Given the description of an element on the screen output the (x, y) to click on. 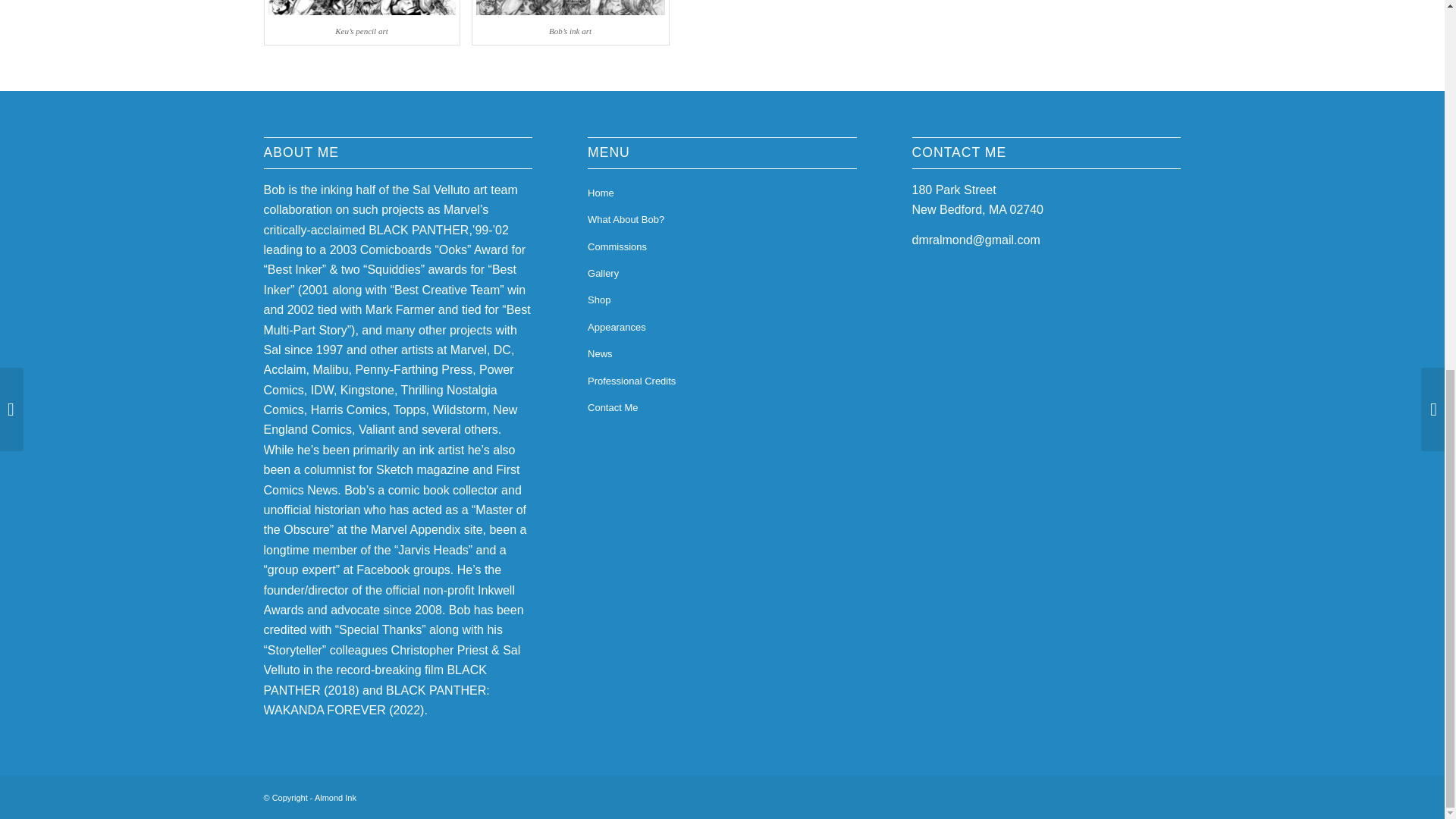
Shop (722, 300)
Contact Me (722, 407)
Professional Credits (722, 380)
Appearances (722, 327)
What About Bob? (722, 220)
Gallery (722, 274)
Bob's ink art (569, 9)
LinkedIn (1146, 794)
News (722, 354)
Commissions (722, 247)
Instagram (1169, 794)
Keu's pencil art (360, 9)
Facebook (1124, 794)
Home (722, 193)
